Given the description of an element on the screen output the (x, y) to click on. 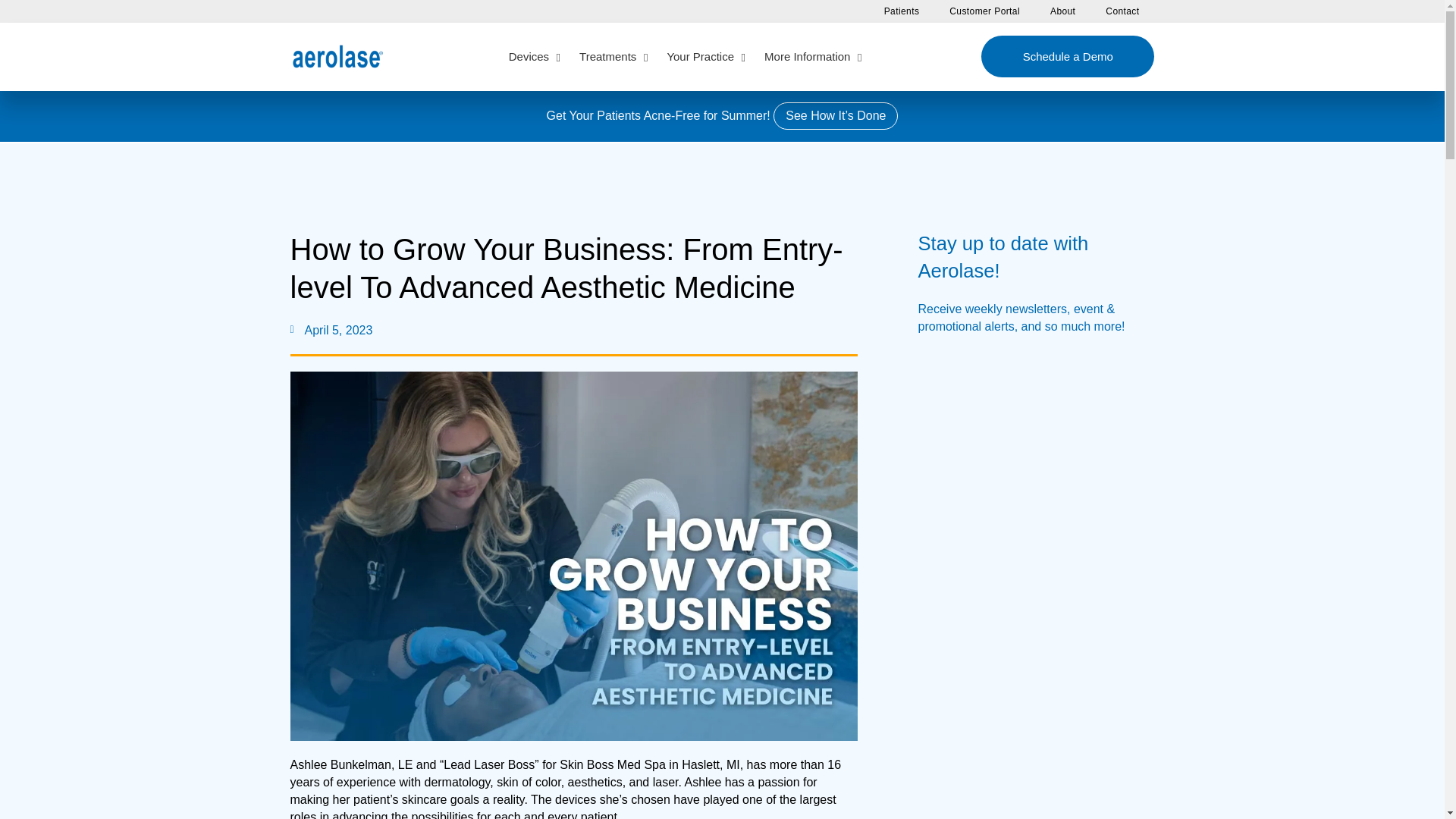
Contact (1122, 11)
Patients (901, 11)
Form 0 (1024, 456)
Customer Portal (984, 11)
About (683, 56)
